Given the description of an element on the screen output the (x, y) to click on. 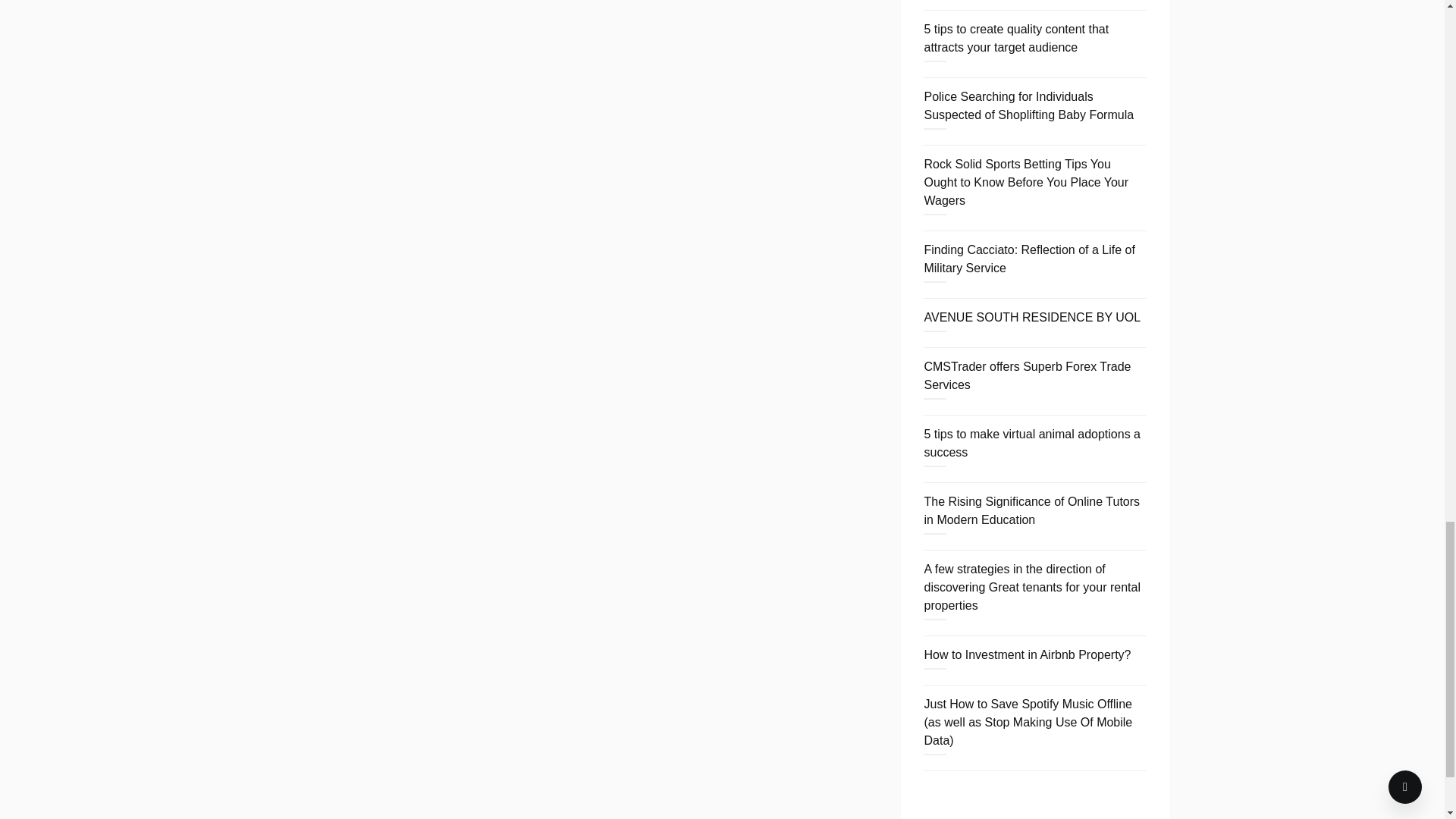
Finding Cacciato: Reflection of a Life of Military Service (1028, 258)
The Rising Significance of Online Tutors in Modern Education (1031, 510)
CMSTrader offers Superb Forex Trade Services (1027, 375)
How to Investment in Airbnb Property? (1027, 654)
AVENUE SOUTH RESIDENCE BY UOL (1031, 317)
5 tips to make virtual animal adoptions a success (1031, 442)
